Given the description of an element on the screen output the (x, y) to click on. 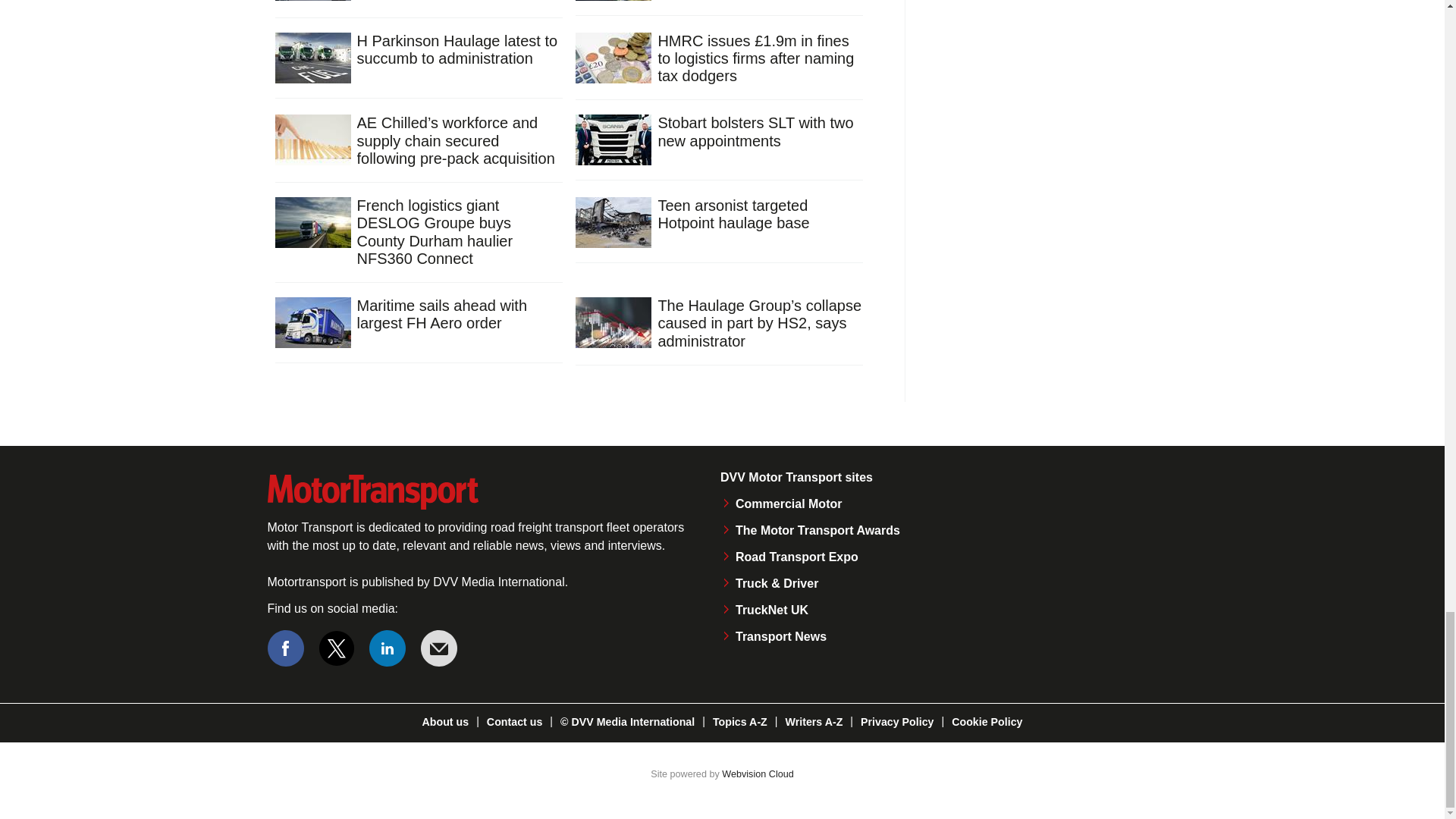
Connect with us on Twitter (336, 647)
Connect with us on Facebook (284, 647)
Connect with us on Linked in (387, 647)
Email us (438, 647)
